Given the description of an element on the screen output the (x, y) to click on. 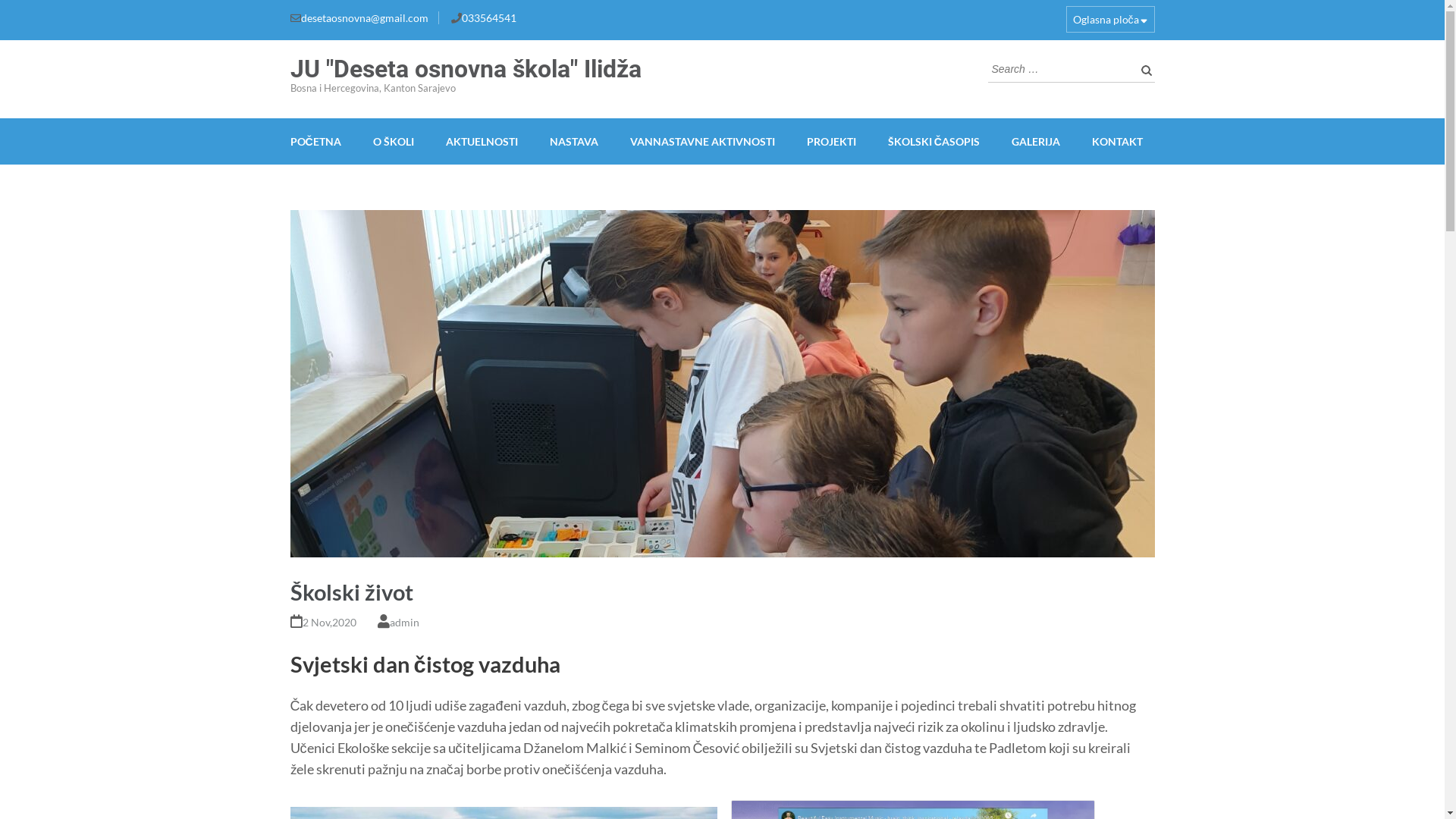
2 Nov,2020 Element type: text (328, 621)
GALERIJA Element type: text (1035, 141)
AKTUELNOSTI Element type: text (481, 141)
admin Element type: text (404, 621)
NASTAVA Element type: text (573, 141)
033564541 Element type: text (488, 17)
Search Element type: text (1142, 69)
PROJEKTI Element type: text (831, 141)
VANNASTAVNE AKTIVNOSTI Element type: text (702, 141)
KONTAKT Element type: text (1117, 141)
desetaosnovna@gmail.com Element type: text (363, 17)
